Given the description of an element on the screen output the (x, y) to click on. 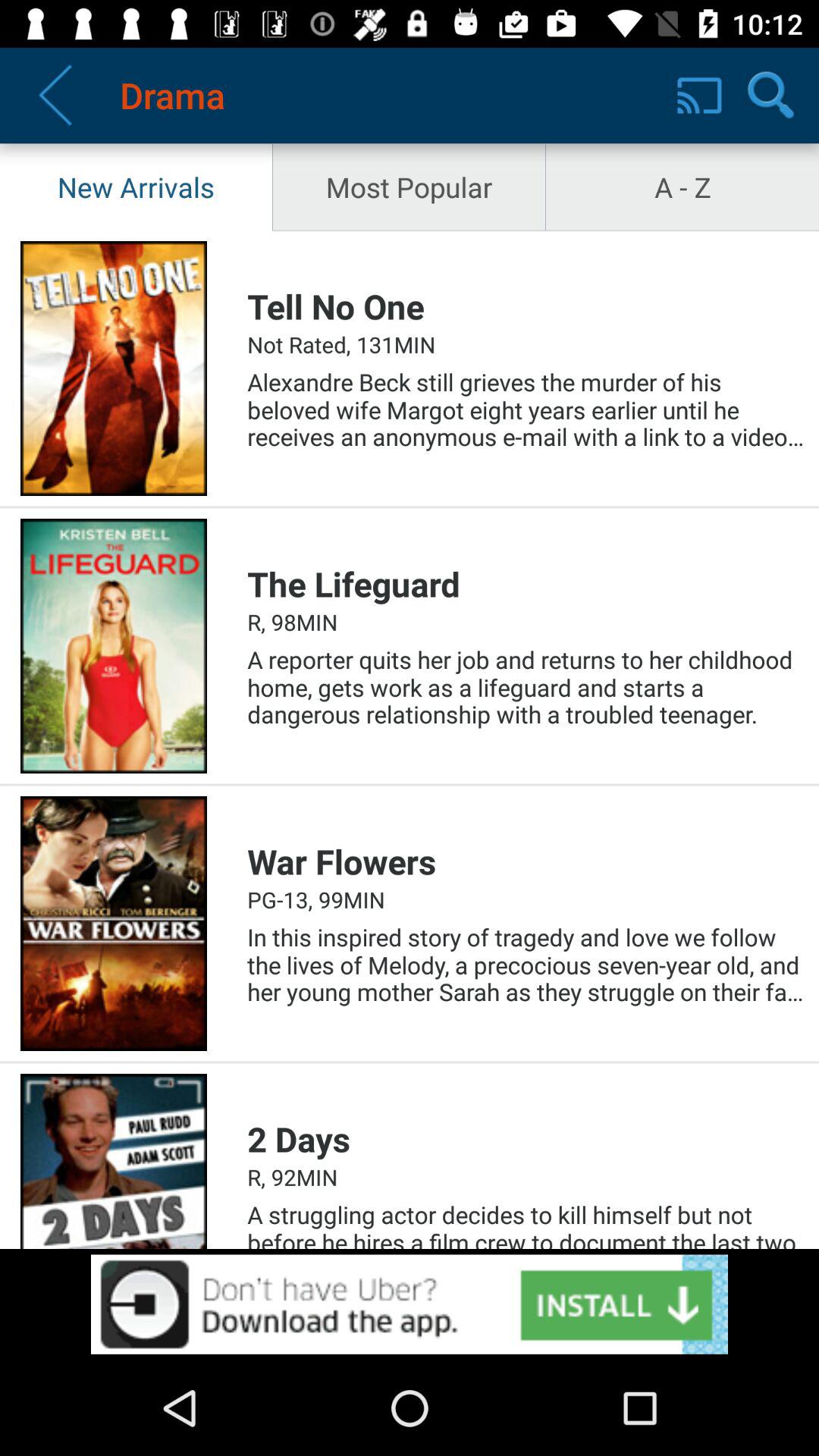
download opption (409, 1304)
